Given the description of an element on the screen output the (x, y) to click on. 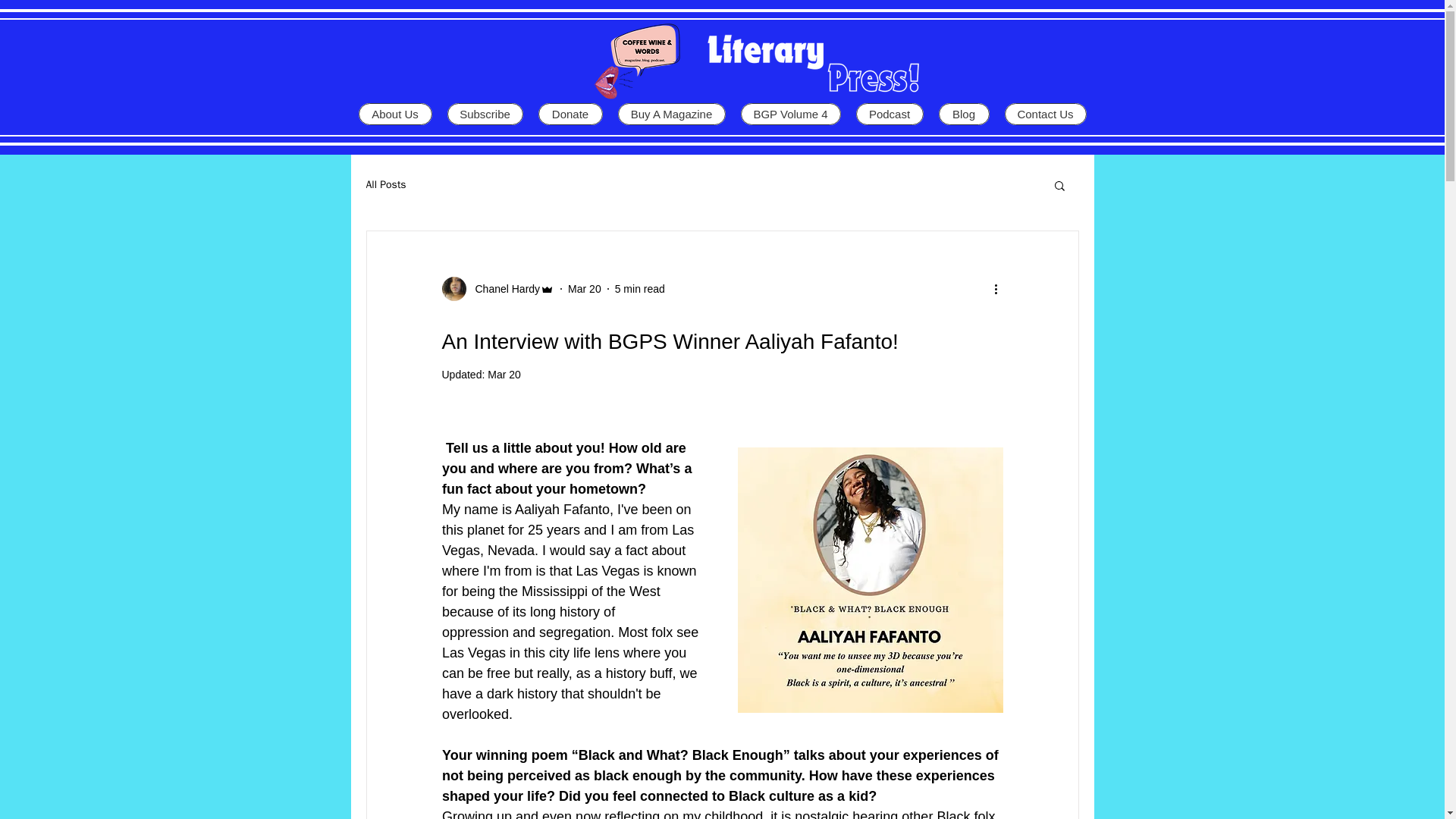
Blog (964, 114)
Chanel Hardy (502, 288)
BGP Volume 4 (789, 114)
All Posts (385, 184)
Chanel Hardy (497, 288)
Podcast (889, 114)
About Us (394, 114)
5 min read (639, 287)
Buy A Magazine (671, 114)
Contact Us (1045, 114)
